Given the description of an element on the screen output the (x, y) to click on. 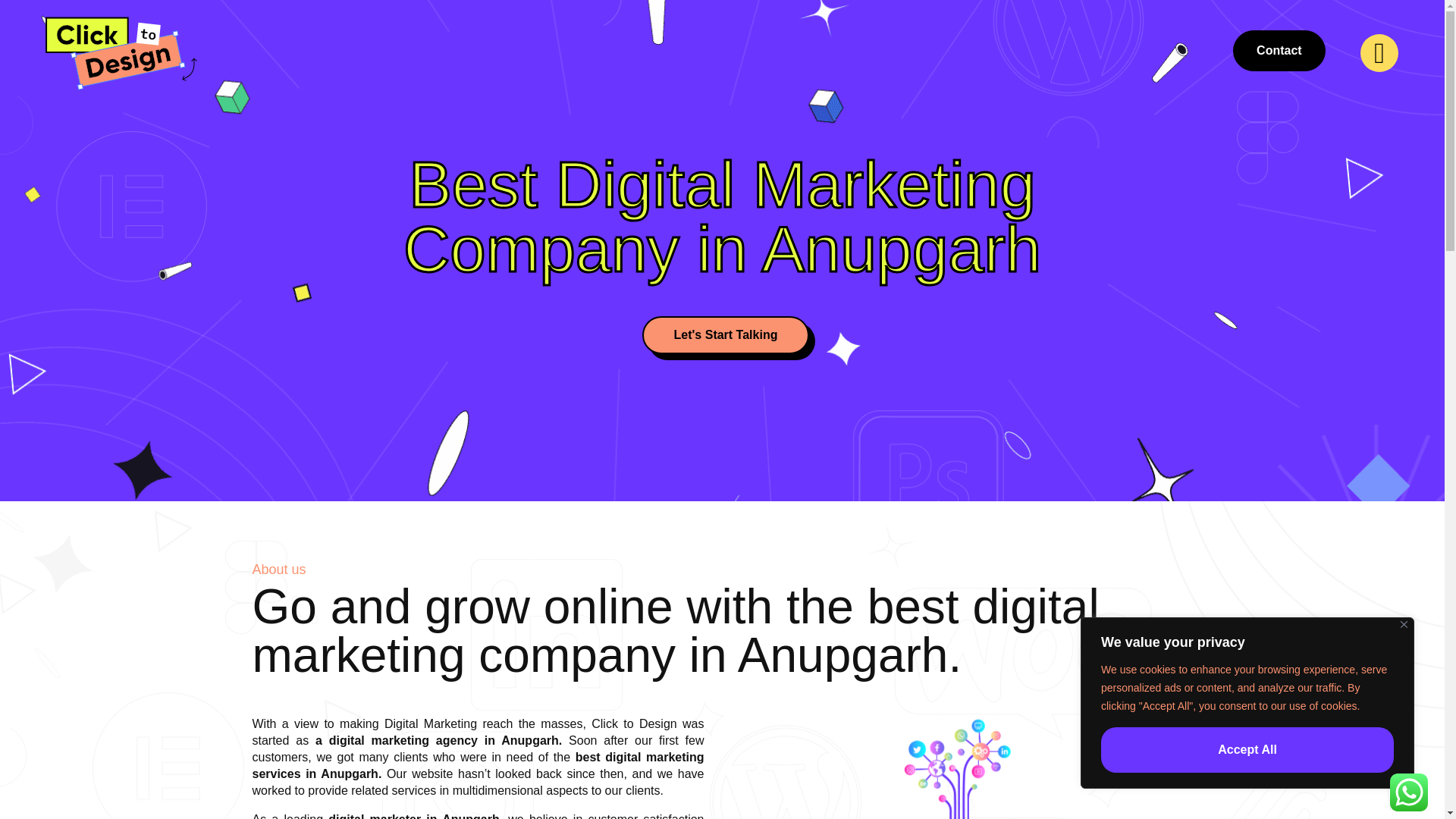
Let's Start Talking (725, 334)
Accept All (1246, 750)
Contact (1278, 50)
